Given the description of an element on the screen output the (x, y) to click on. 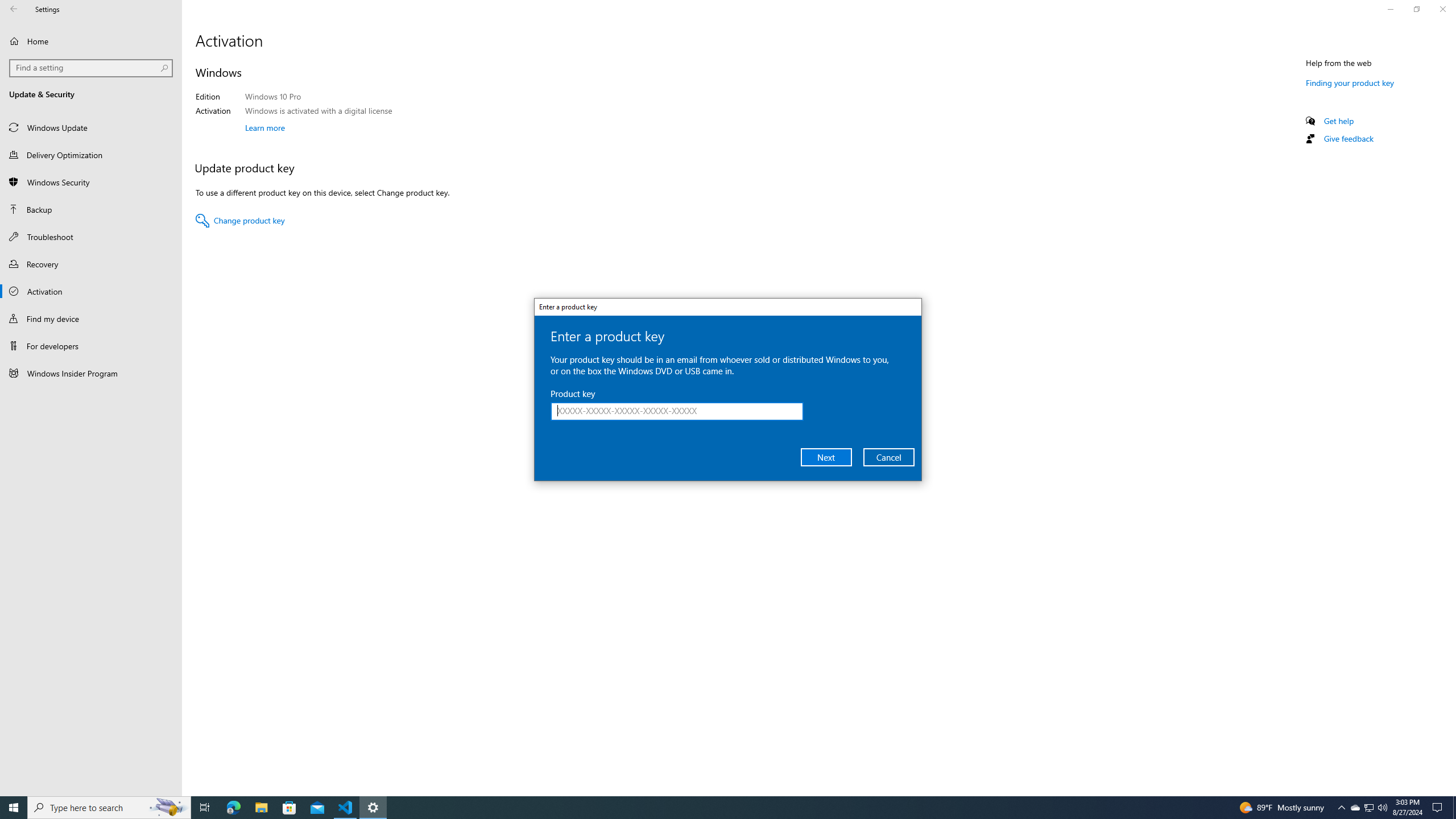
Next (826, 457)
Product key (676, 411)
